Given the description of an element on the screen output the (x, y) to click on. 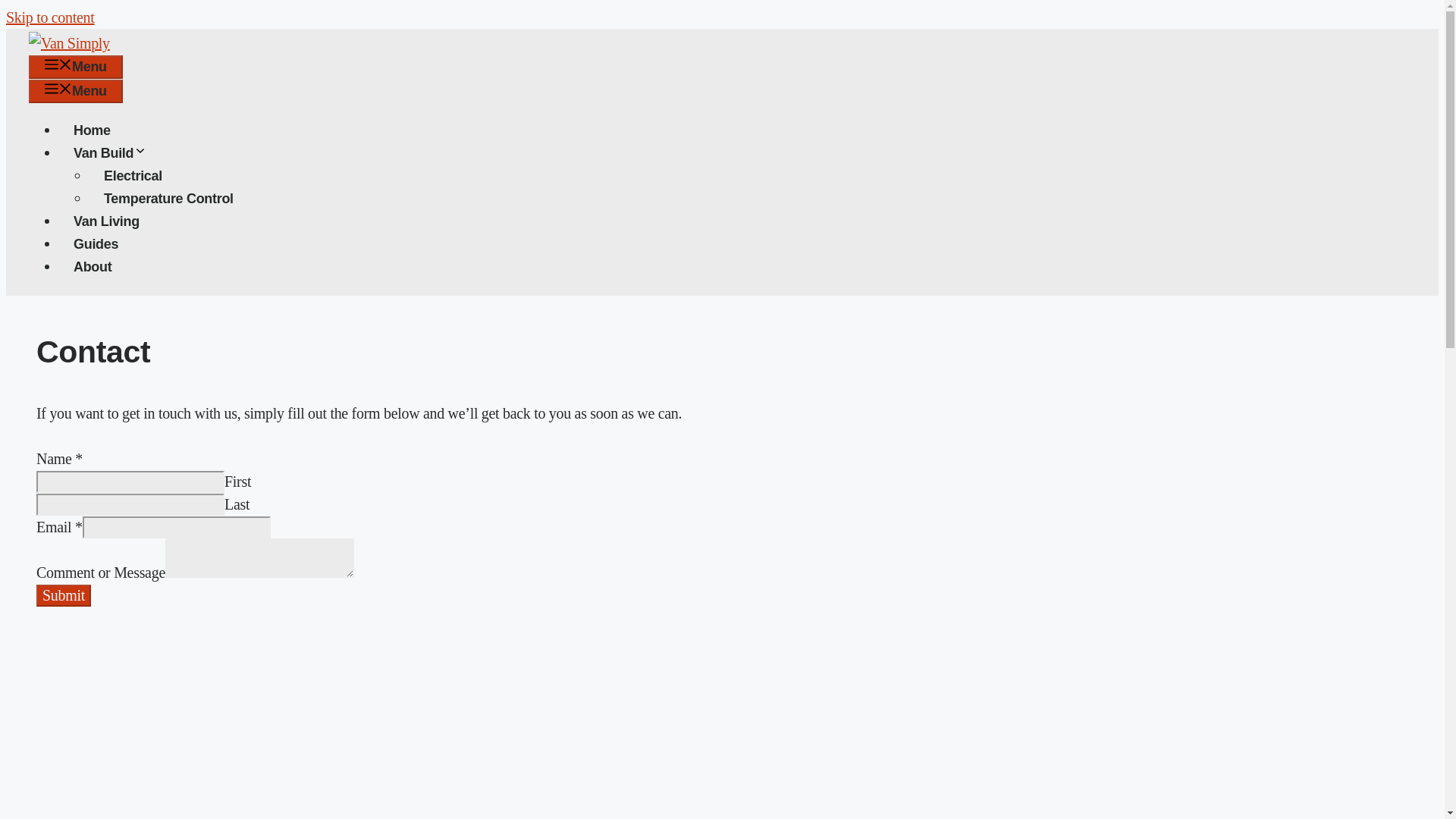
Skip to content (49, 17)
Menu (75, 91)
Submit (63, 595)
Electrical (132, 175)
Van Build (117, 152)
Temperature Control (167, 198)
Skip to content (49, 17)
About (92, 266)
Home (92, 130)
Guides (95, 243)
Menu (75, 66)
Van Living (106, 221)
